Given the description of an element on the screen output the (x, y) to click on. 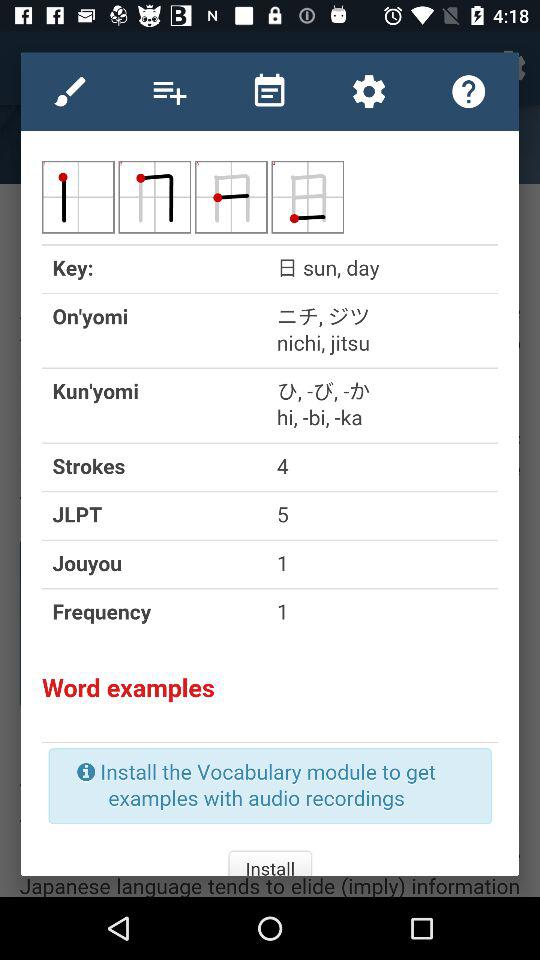
open calendar (269, 91)
